Given the description of an element on the screen output the (x, y) to click on. 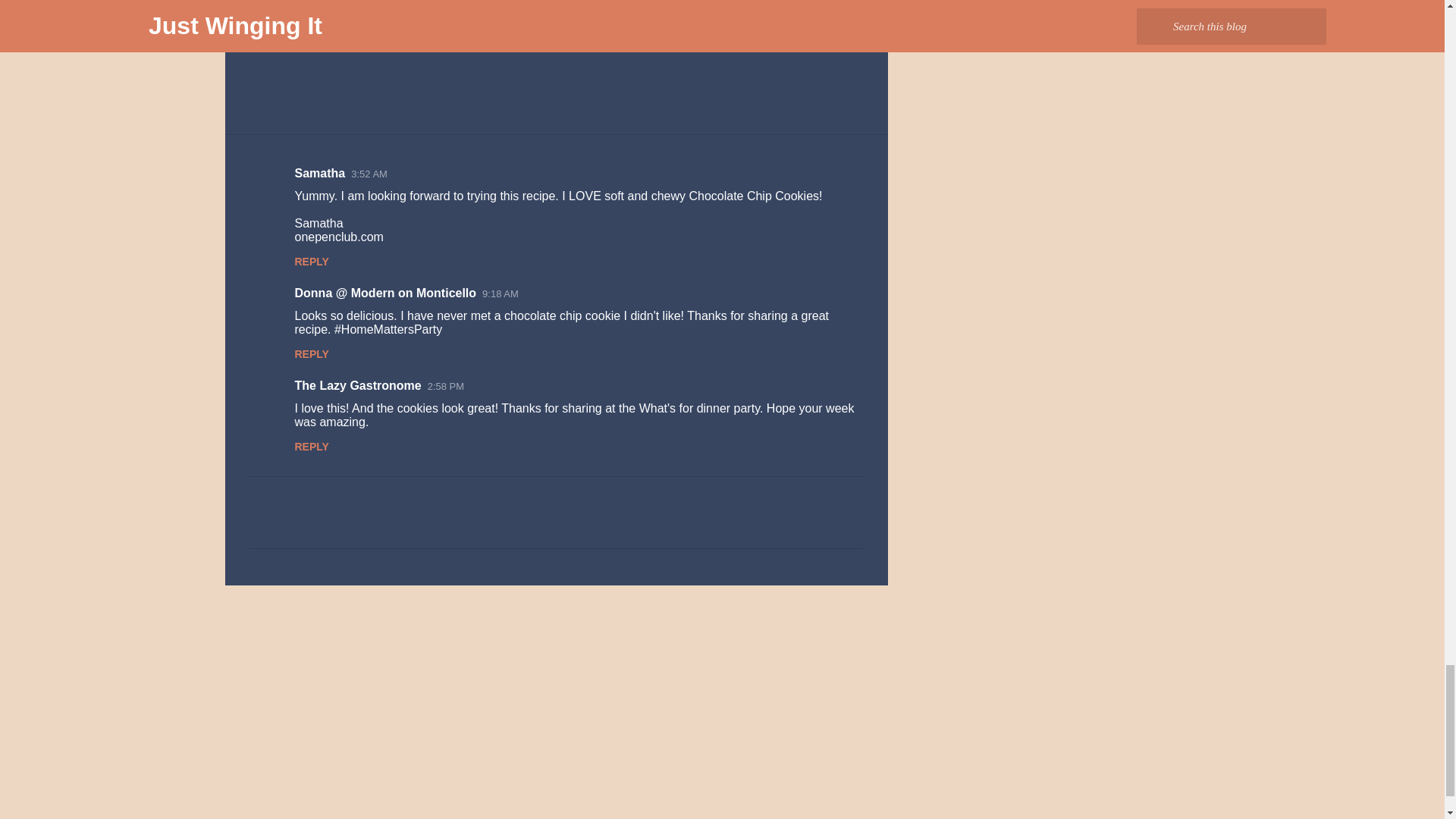
REPLY (311, 261)
COOKIES (411, 31)
9:18 AM (499, 293)
REPLY (311, 354)
3:52 AM (368, 173)
YouTube video player (460, 6)
Samatha (319, 173)
CHOCOLATE CHIP COOKIE (313, 31)
HOW TO MAKE CHOCOLATE CHIP COOKIES. RECIPE (565, 31)
